Given the description of an element on the screen output the (x, y) to click on. 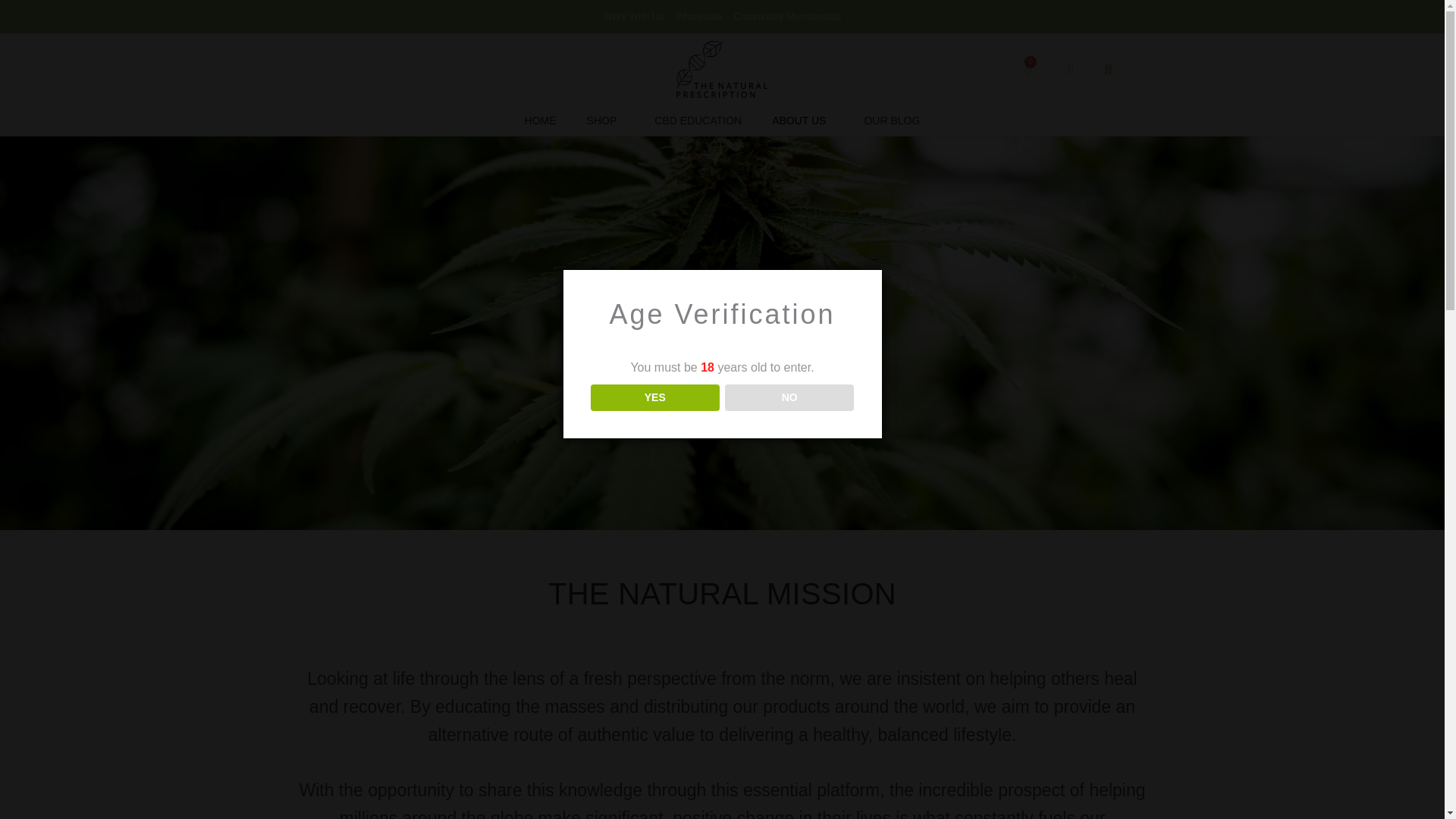
logo-200 (722, 68)
HOME (540, 120)
SHOP (606, 120)
Work With Us (633, 16)
CBD EDUCATION (698, 120)
ABOUT US (802, 120)
Wholesale (698, 16)
Community Membership (787, 16)
OUR BLOG (891, 120)
